Given the description of an element on the screen output the (x, y) to click on. 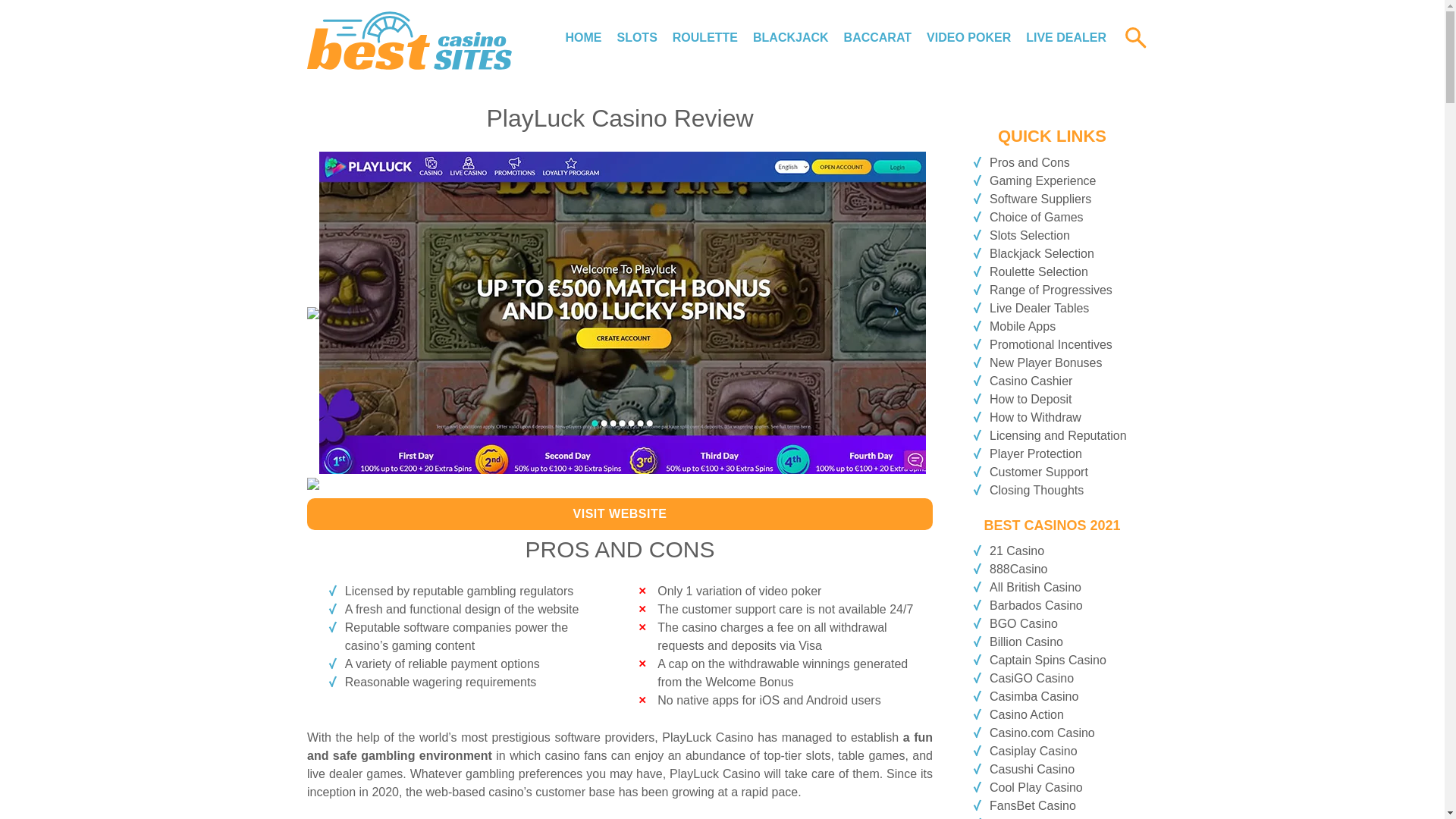
ROULETTE (705, 37)
Mobile Apps (1022, 326)
BLACKJACK (790, 37)
LIVE DEALER (1066, 37)
HOME (582, 37)
All British Casino (1035, 586)
Barbados Casino (1036, 604)
Blackjack Selection (1042, 253)
How to Deposit (1030, 399)
21 Casino (1016, 550)
Software Suppliers (1040, 198)
BGO Casino (1024, 623)
Pros and Cons (1030, 162)
Player Protection (1035, 453)
Roulette Selection (1038, 271)
